Given the description of an element on the screen output the (x, y) to click on. 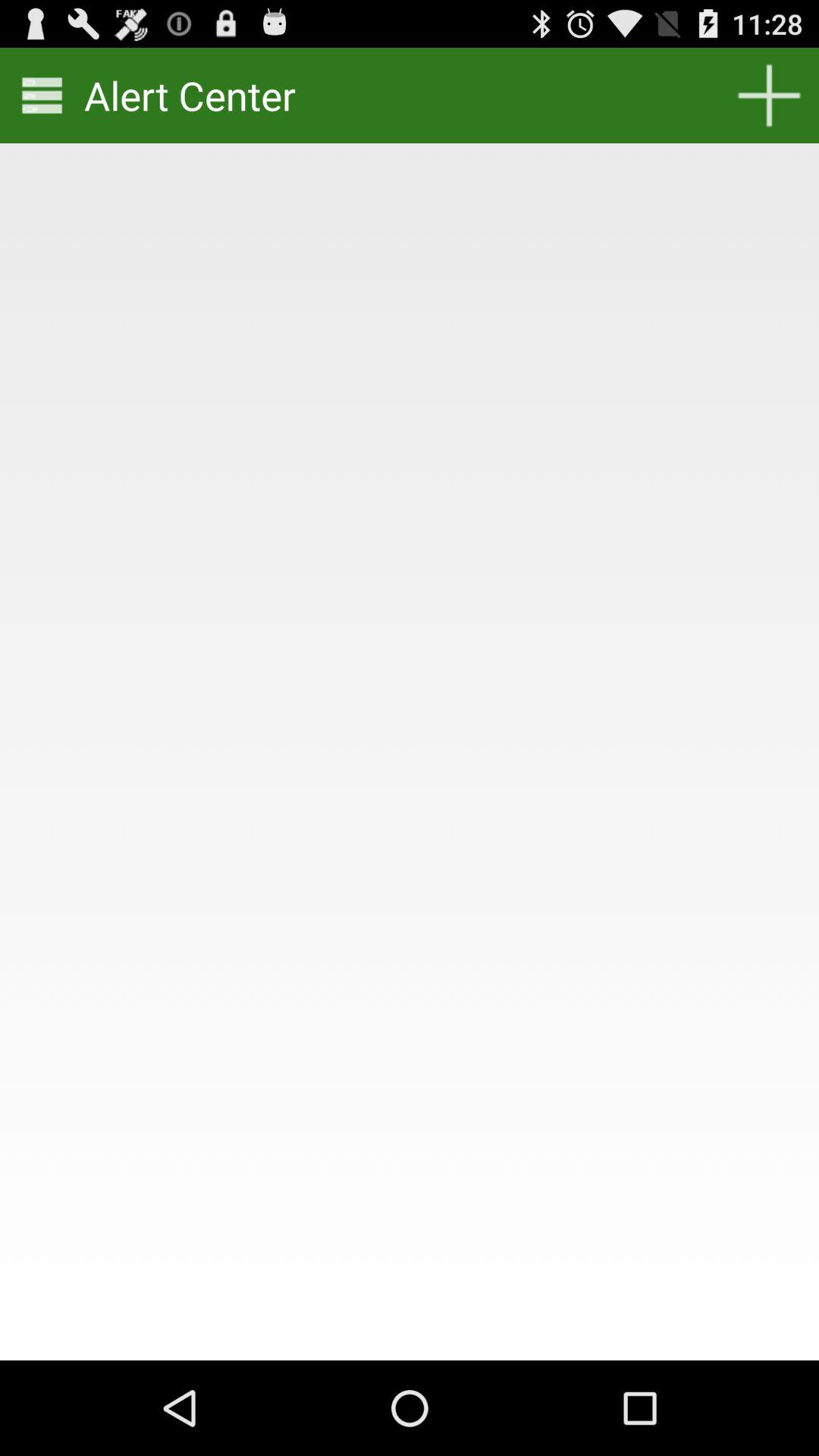
turn off icon at the top right corner (769, 95)
